Given the description of an element on the screen output the (x, y) to click on. 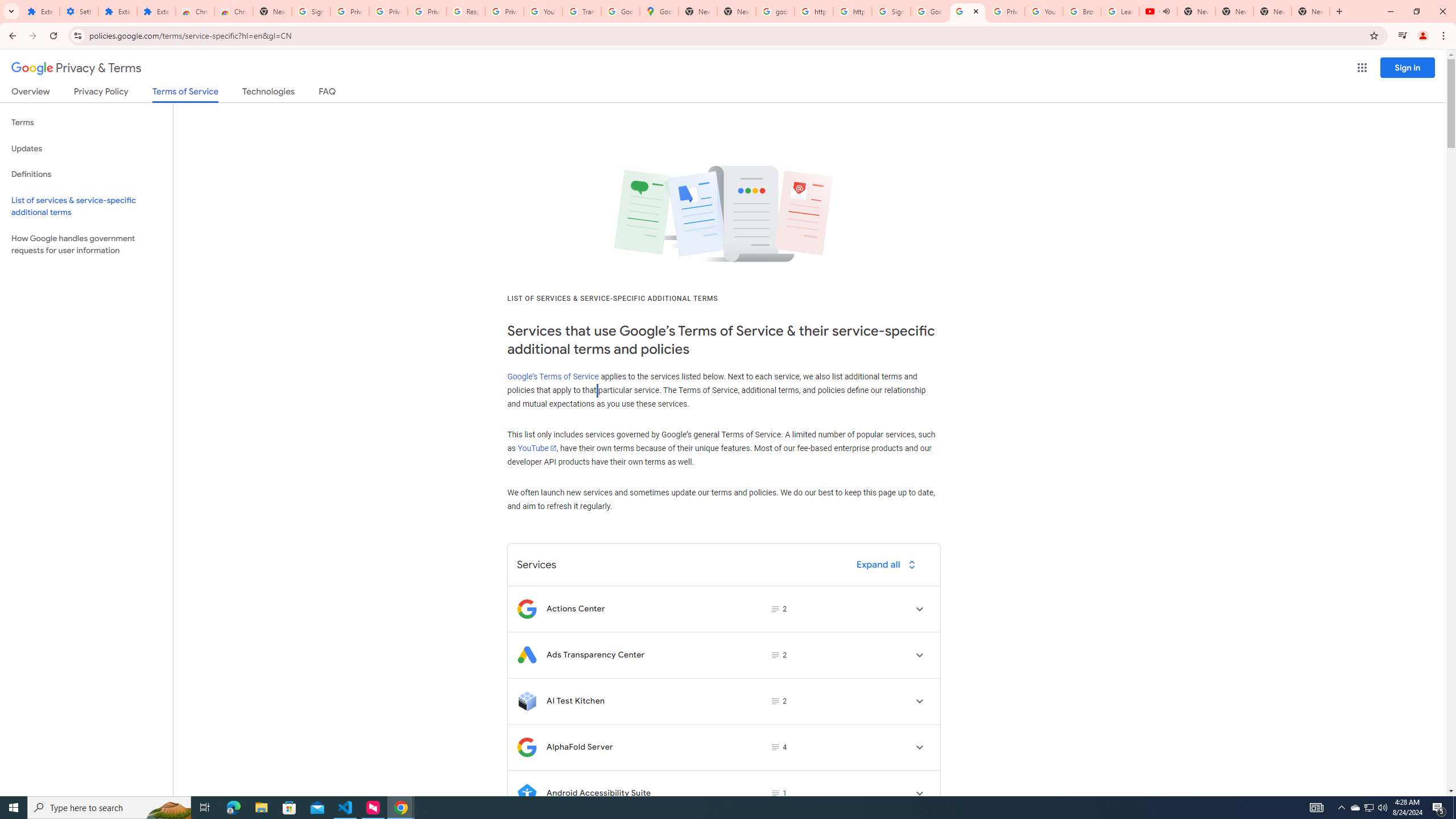
YouTube (1043, 11)
https://scholar.google.com/ (852, 11)
